Given the description of an element on the screen output the (x, y) to click on. 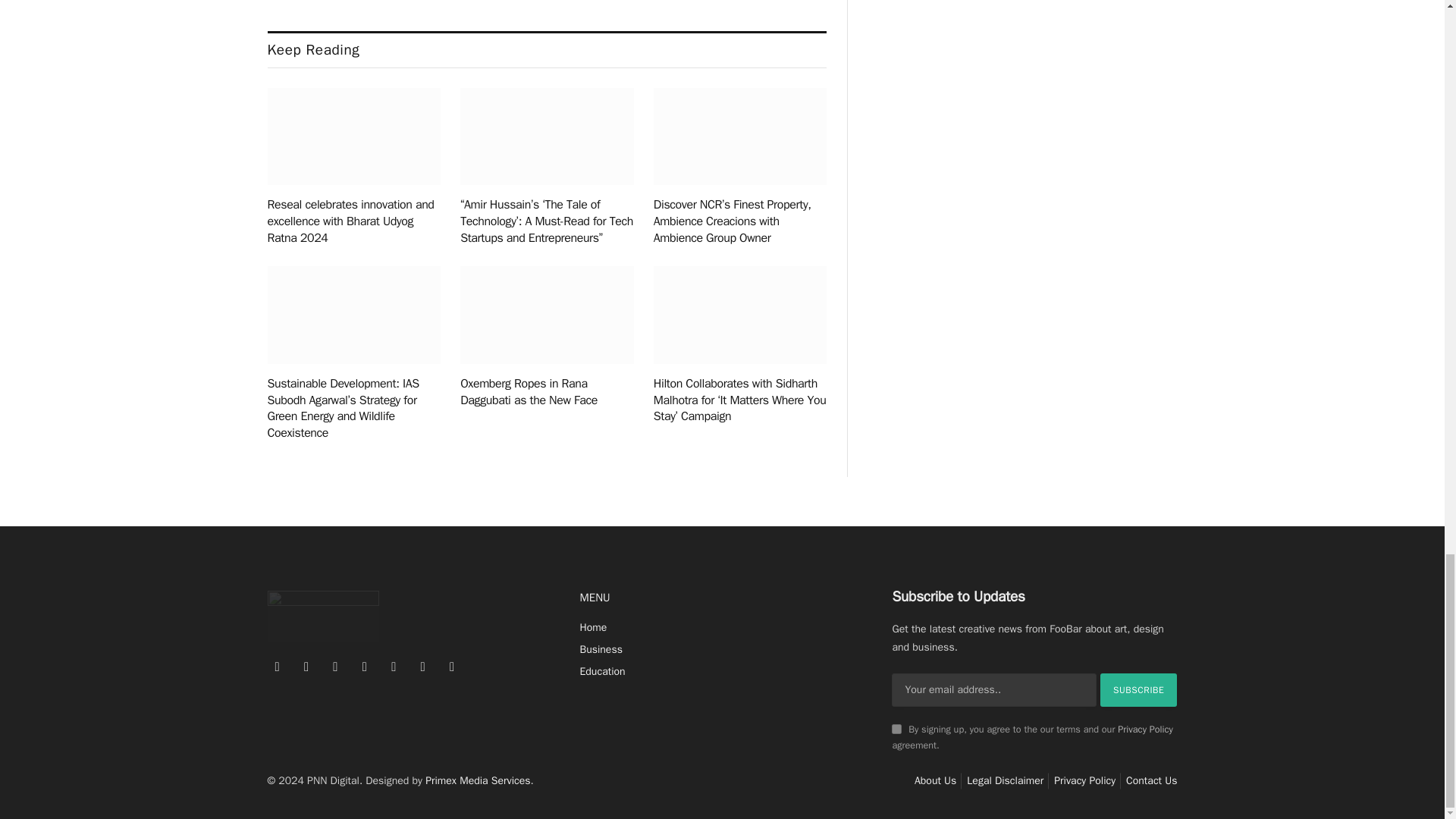
Subscribe (1138, 689)
on (896, 728)
